Given the description of an element on the screen output the (x, y) to click on. 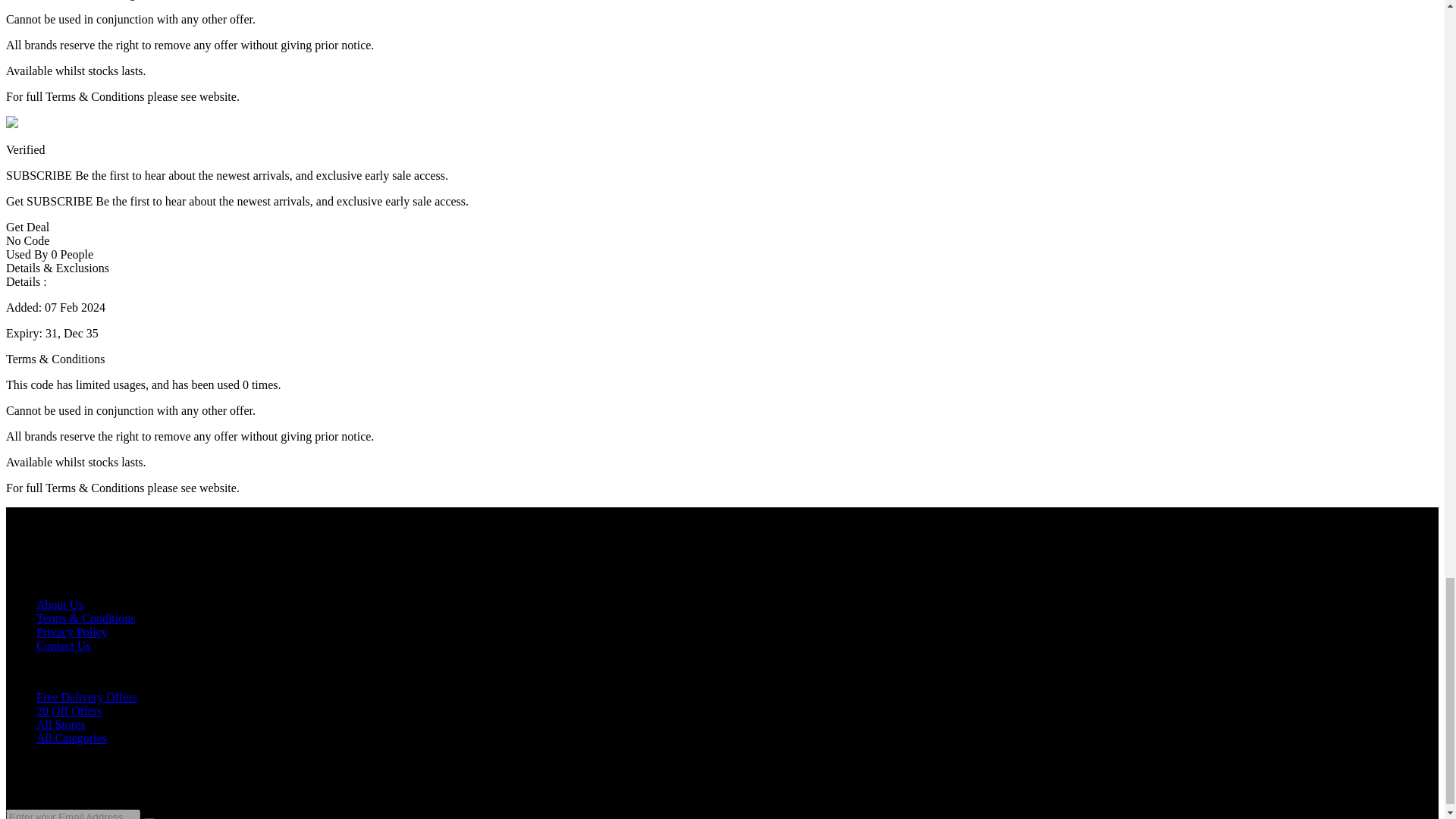
Contact Us (63, 645)
Privacy Policy (71, 631)
About Us (59, 604)
Free Delivery Offers (86, 697)
